Given the description of an element on the screen output the (x, y) to click on. 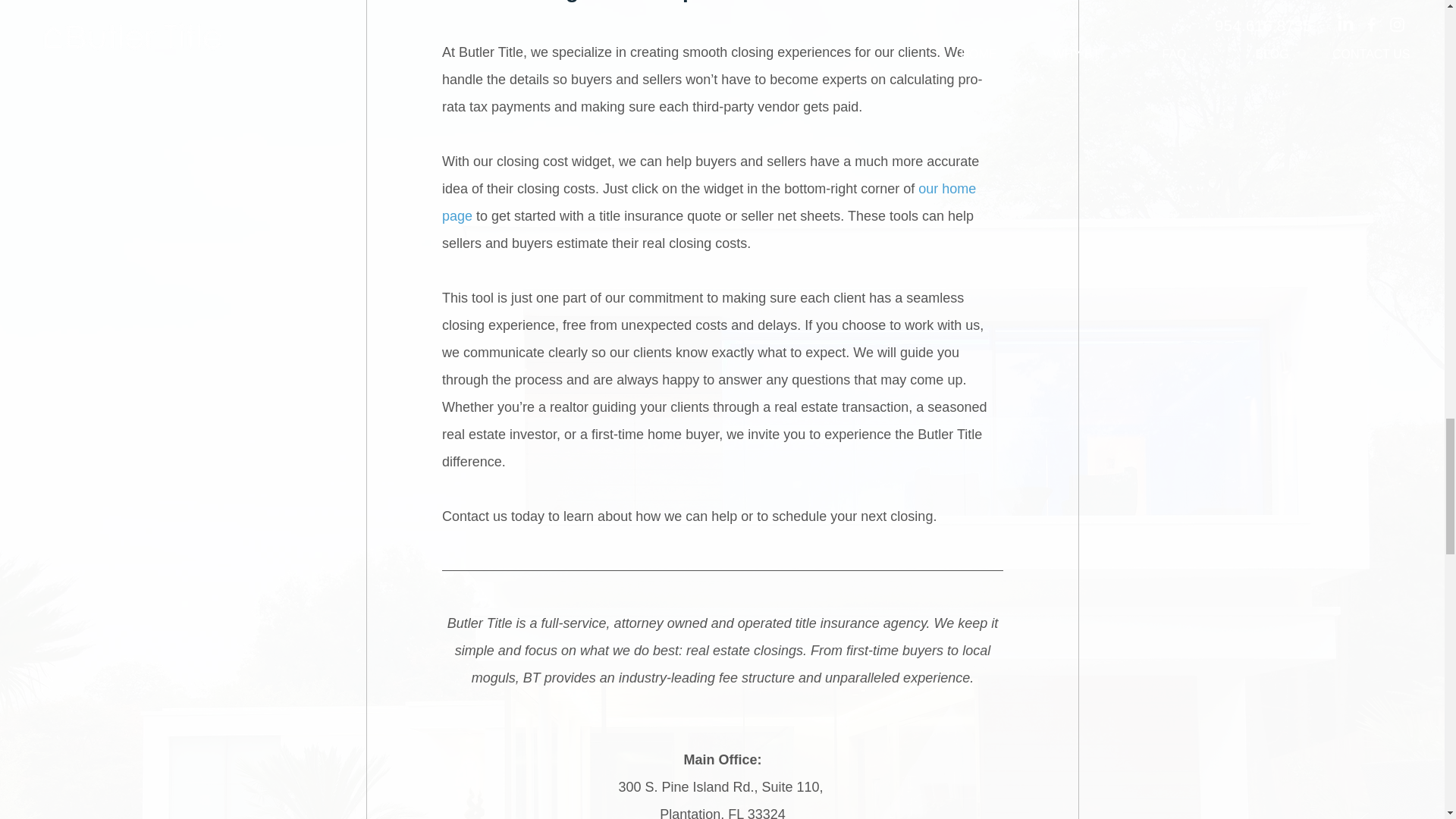
300 S. Pine Island Rd., Suite 110,  (722, 786)
Main Office (719, 759)
Plantation, FL 33324 (721, 812)
our home page (709, 201)
